Given the description of an element on the screen output the (x, y) to click on. 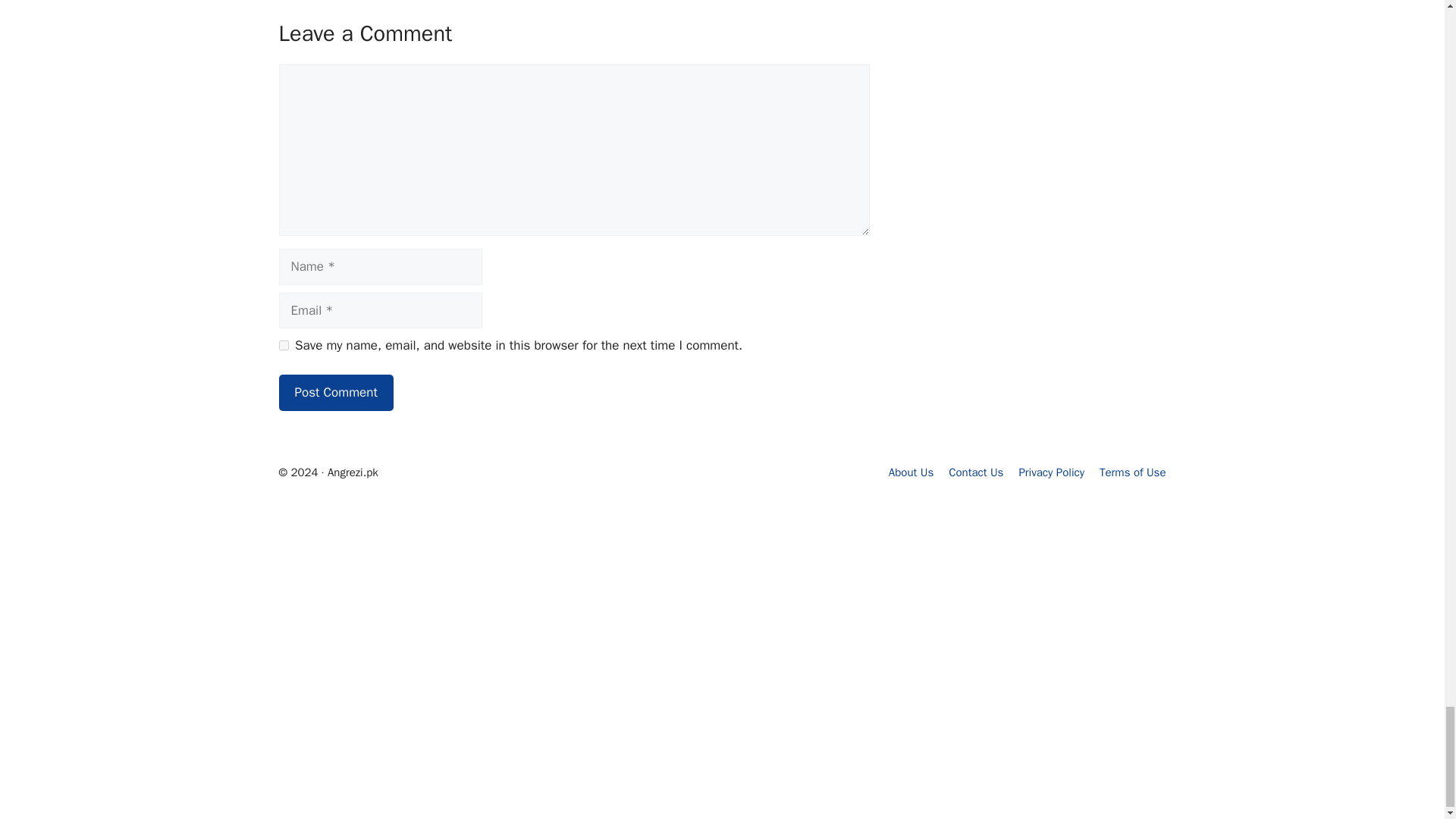
About Us (910, 472)
Terms of Use (1132, 472)
Post Comment (336, 392)
Privacy Policy (1050, 472)
Contact Us (976, 472)
yes (283, 345)
Post Comment (336, 392)
